Given the description of an element on the screen output the (x, y) to click on. 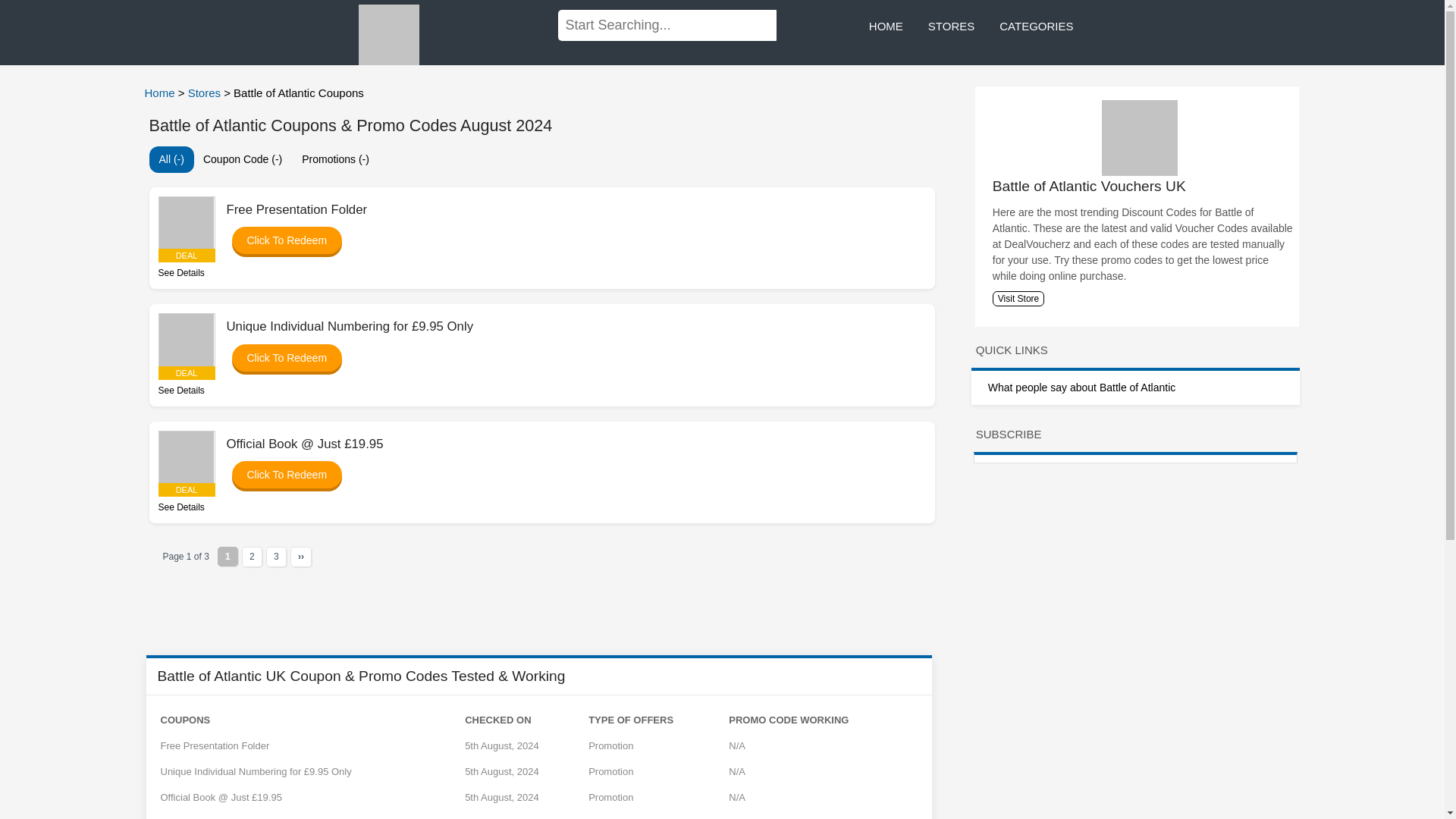
Click To Redeem (279, 239)
Stores (205, 92)
Home (160, 92)
CATEGORIES (1035, 27)
Click To Redeem (279, 357)
STORES (951, 27)
HOME (885, 27)
